Given the description of an element on the screen output the (x, y) to click on. 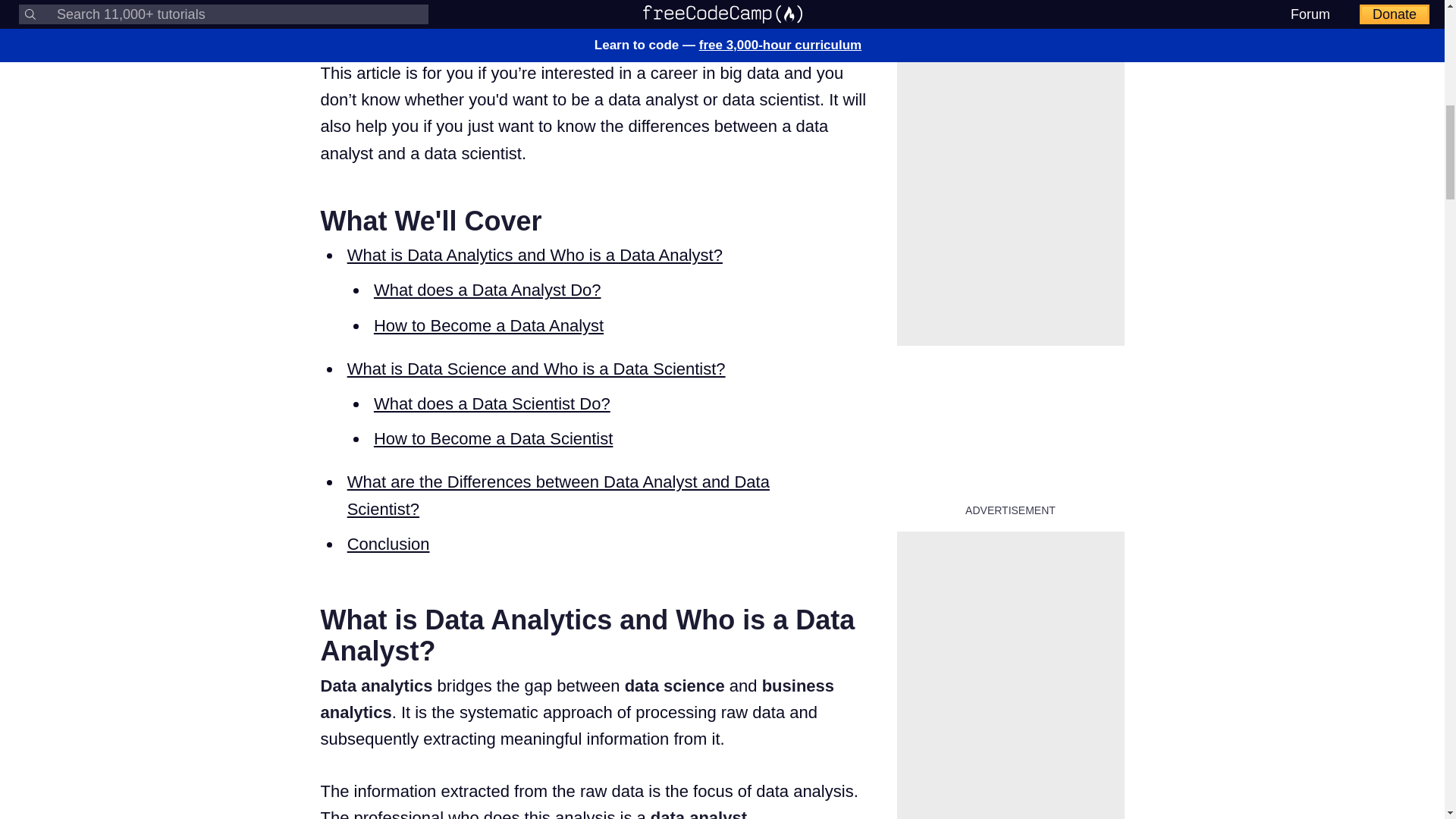
What is Data Analytics and Who is a Data Analyst? (534, 254)
How to Become a Data Scientist (493, 438)
What does a Data Scientist Do? (492, 403)
What is Data Science and Who is a Data Scientist? (536, 368)
How to Become a Data Analyst (489, 325)
Conclusion (388, 543)
What does a Data Analyst Do? (487, 289)
